Given the description of an element on the screen output the (x, y) to click on. 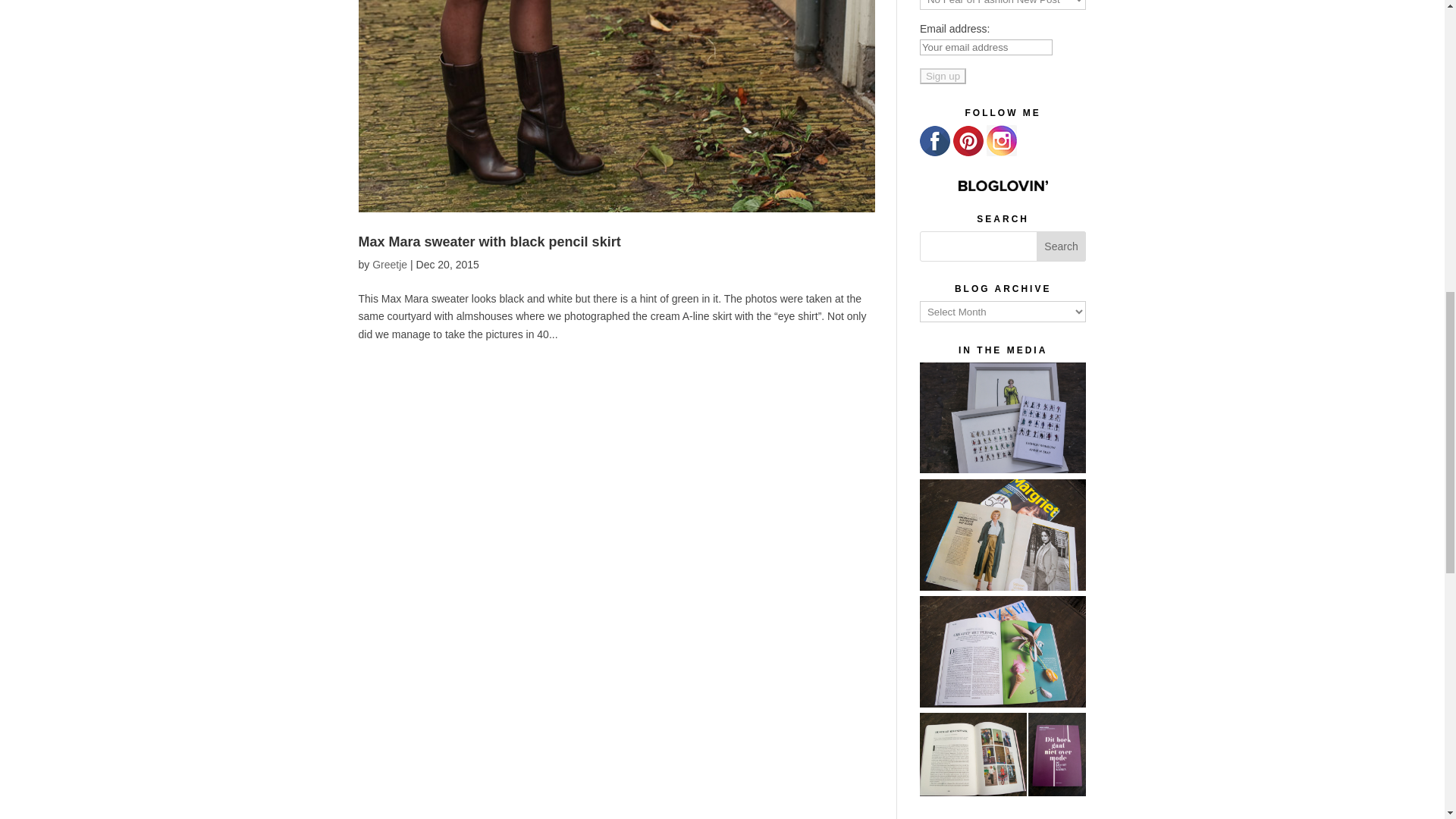
Sign up (943, 75)
Posts by Greetje (389, 264)
Search (1061, 245)
Follow No Fear of Fashion on Bloglovin (1003, 185)
Sign up (943, 75)
Search (1061, 245)
Greetje (389, 264)
Max Mara sweater with black pencil skirt (489, 241)
